Given the description of an element on the screen output the (x, y) to click on. 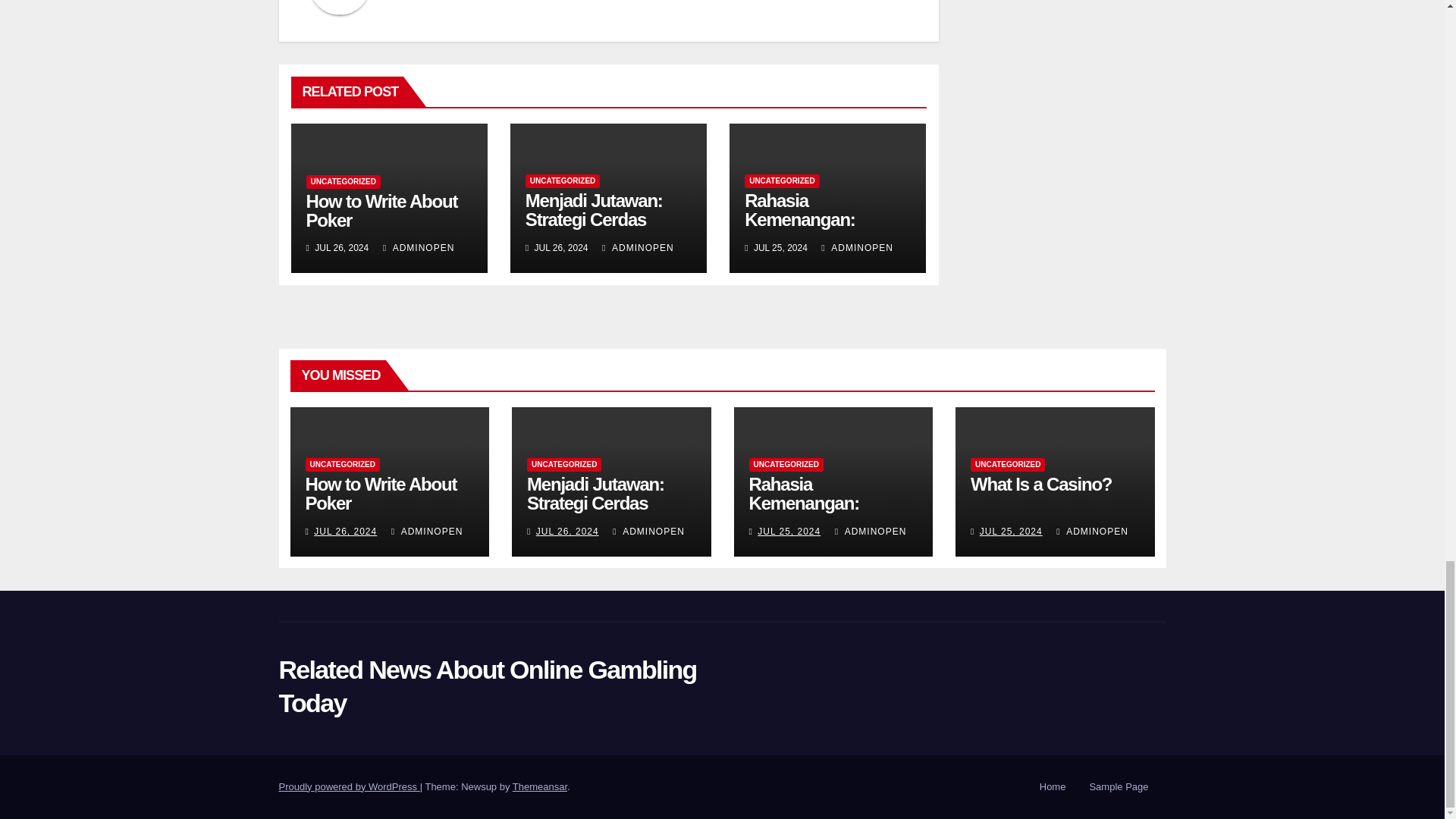
ADMINOPEN (418, 247)
How to Write About Poker (381, 210)
UNCATEGORIZED (562, 181)
ADMINOPEN (857, 247)
Home (1052, 786)
Permalink to: What Is a Casino? (1041, 484)
Permalink to: How to Write About Poker (380, 493)
UNCATEGORIZED (342, 182)
Permalink to: How to Write About Poker (381, 210)
UNCATEGORIZED (781, 181)
ADMINOPEN (638, 247)
